Given the description of an element on the screen output the (x, y) to click on. 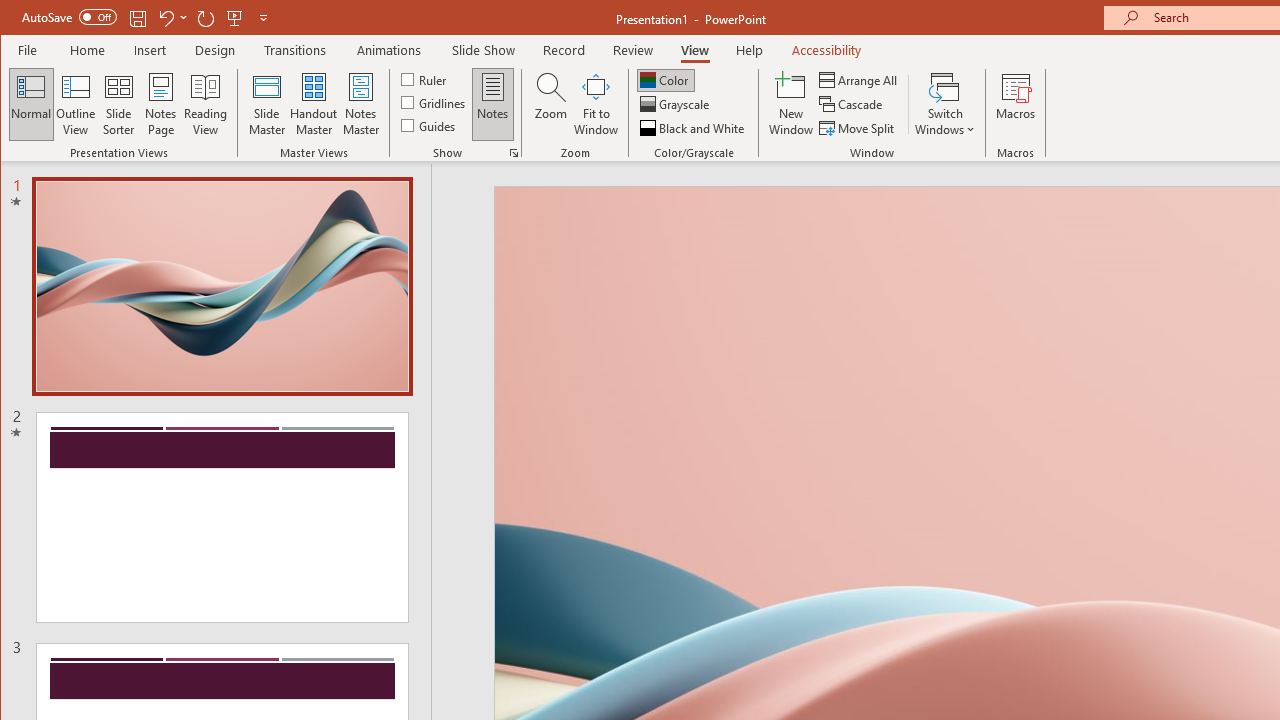
Grid Settings... (513, 152)
Gridlines (435, 101)
